Given the description of an element on the screen output the (x, y) to click on. 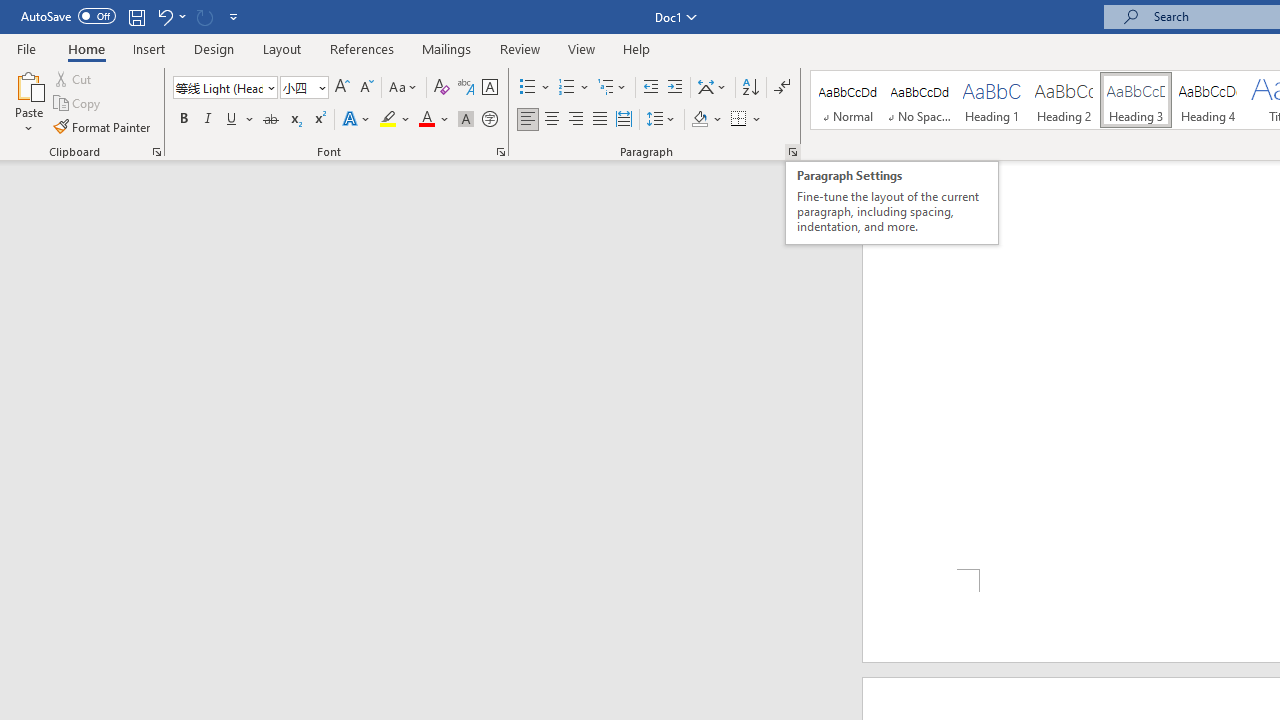
Decrease Indent (650, 87)
Strikethrough (270, 119)
Can't Repeat (204, 15)
Heading 2 (1063, 100)
Paragraph... (792, 151)
Shrink Font (365, 87)
Heading 1 (991, 100)
Shading RGB(0, 0, 0) (699, 119)
Clear Formatting (442, 87)
